Given the description of an element on the screen output the (x, y) to click on. 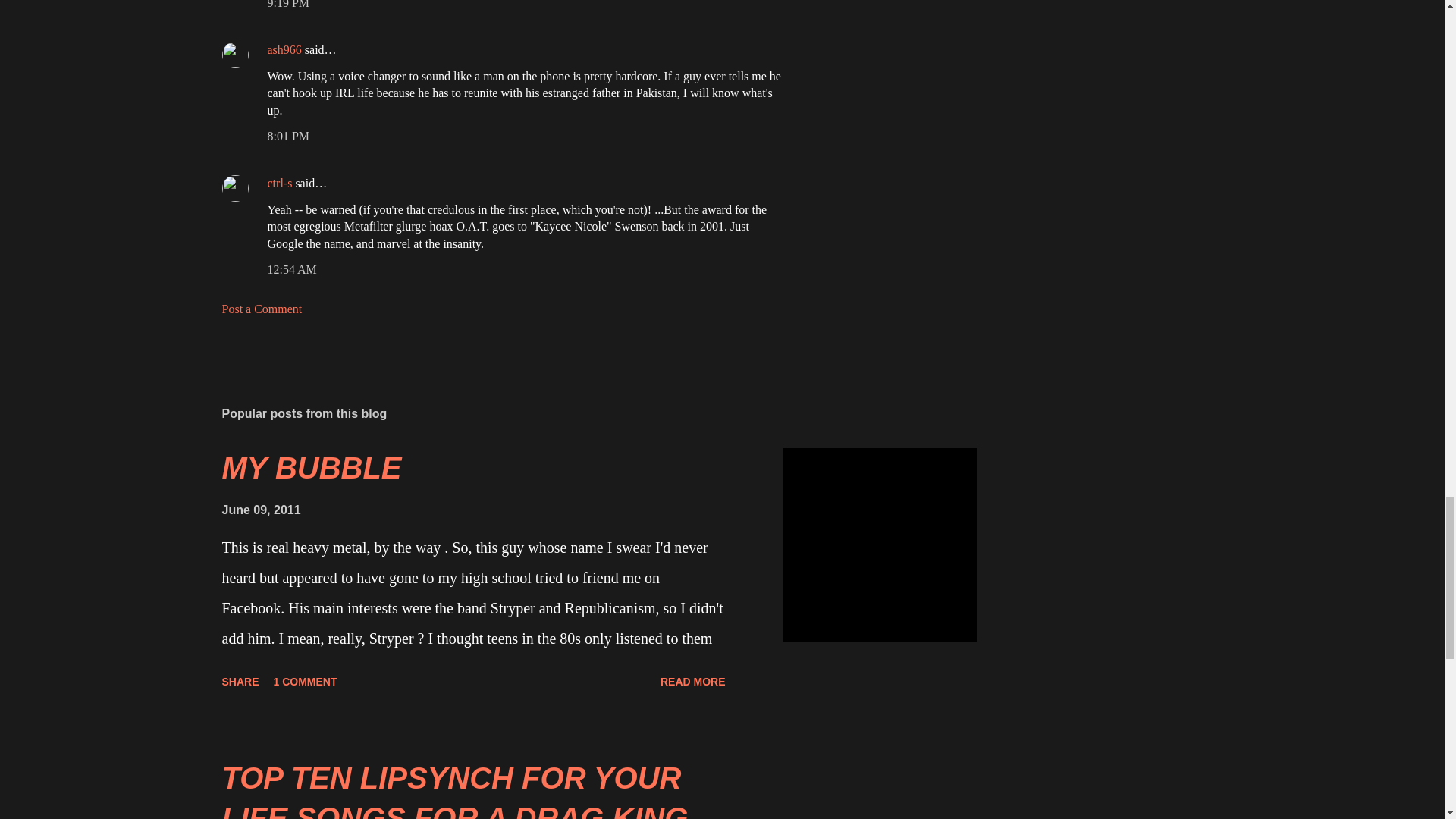
9:19 PM (287, 4)
June 09, 2011 (260, 509)
MY BUBBLE (311, 467)
12:54 AM (290, 269)
Post a Comment (261, 308)
comment permalink (287, 4)
ash966 (283, 49)
ctrl-s (279, 182)
SHARE (239, 681)
8:01 PM (287, 135)
